Given the description of an element on the screen output the (x, y) to click on. 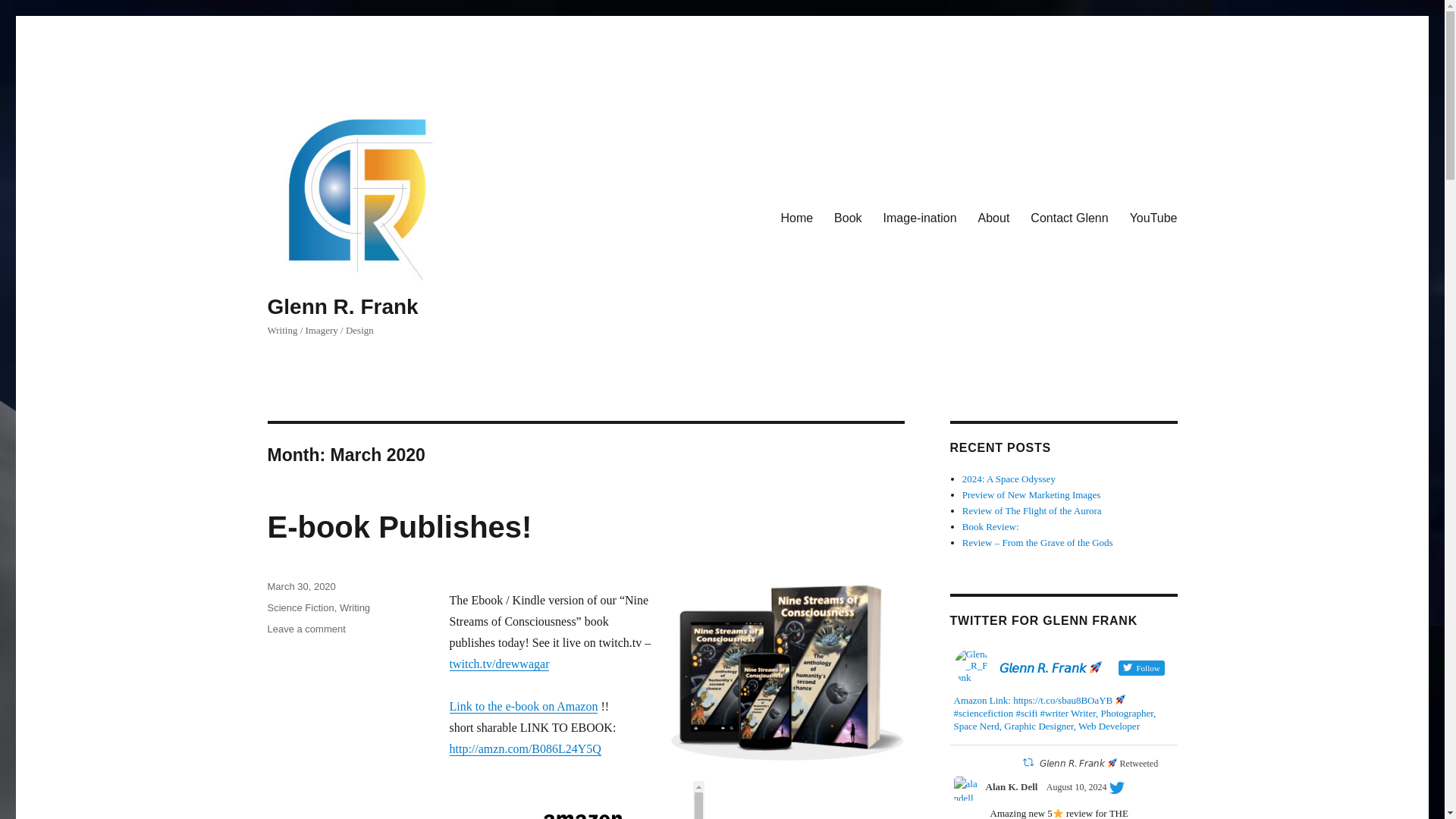
Book (848, 218)
Link to the e-book on Amazon (305, 628)
Science Fiction (522, 706)
Writing (299, 607)
About (354, 607)
YouTube (994, 218)
Contact Glenn (1153, 218)
March 30, 2020 (1069, 218)
Home (300, 586)
